Given the description of an element on the screen output the (x, y) to click on. 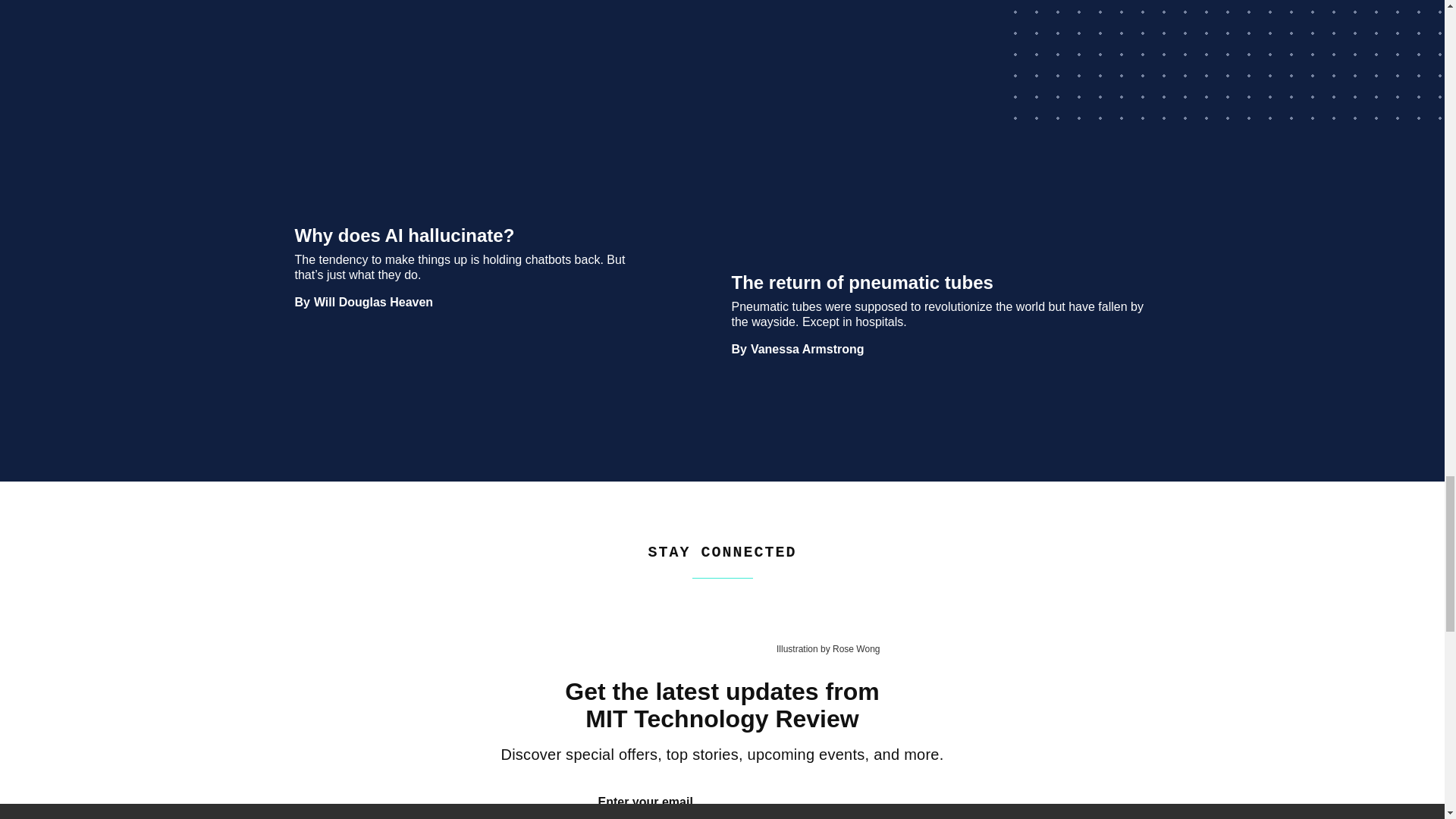
Why does AI hallucinate? (467, 123)
